Given the description of an element on the screen output the (x, y) to click on. 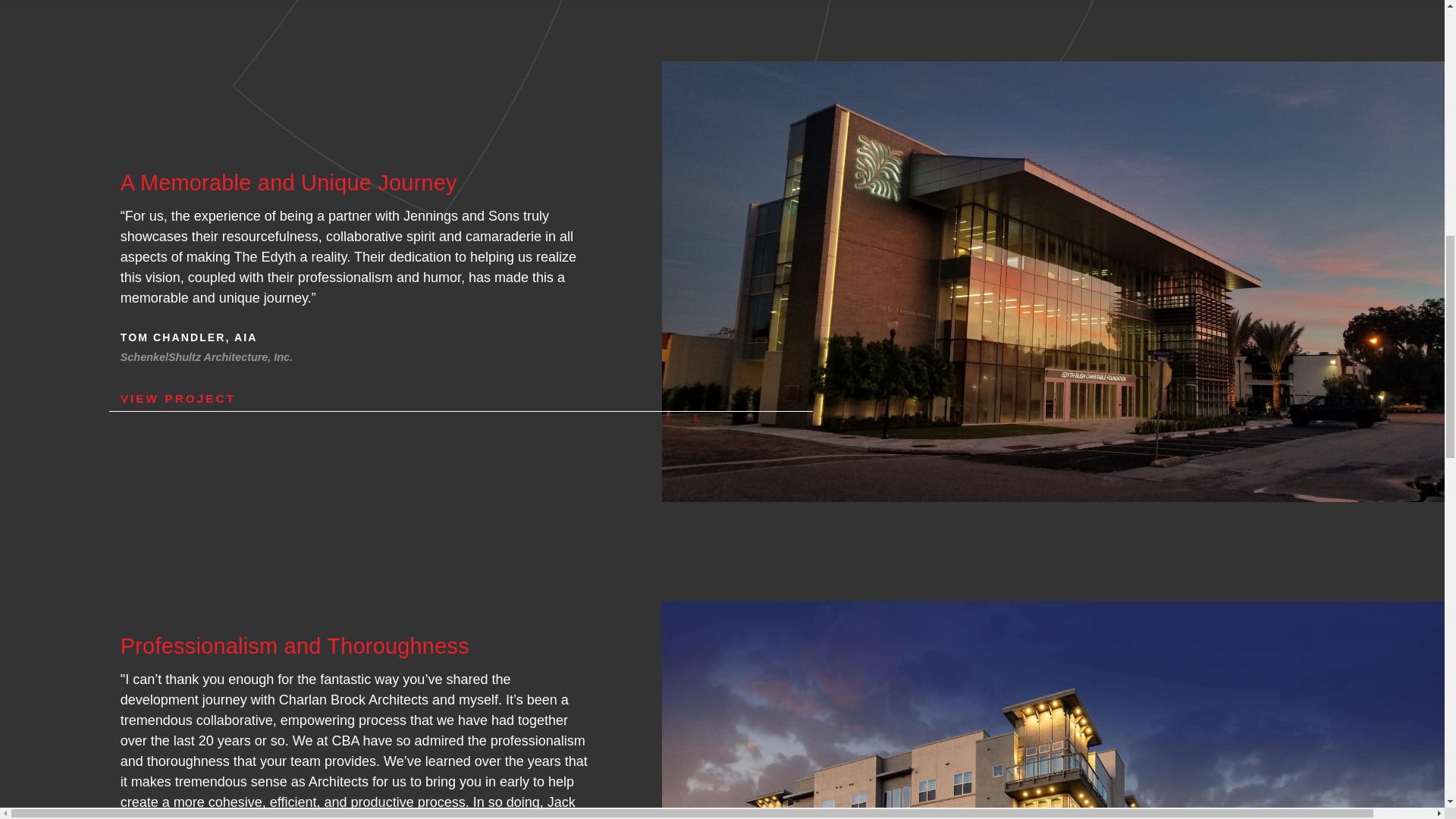
VIEW PROJECT (461, 398)
